Given the description of an element on the screen output the (x, y) to click on. 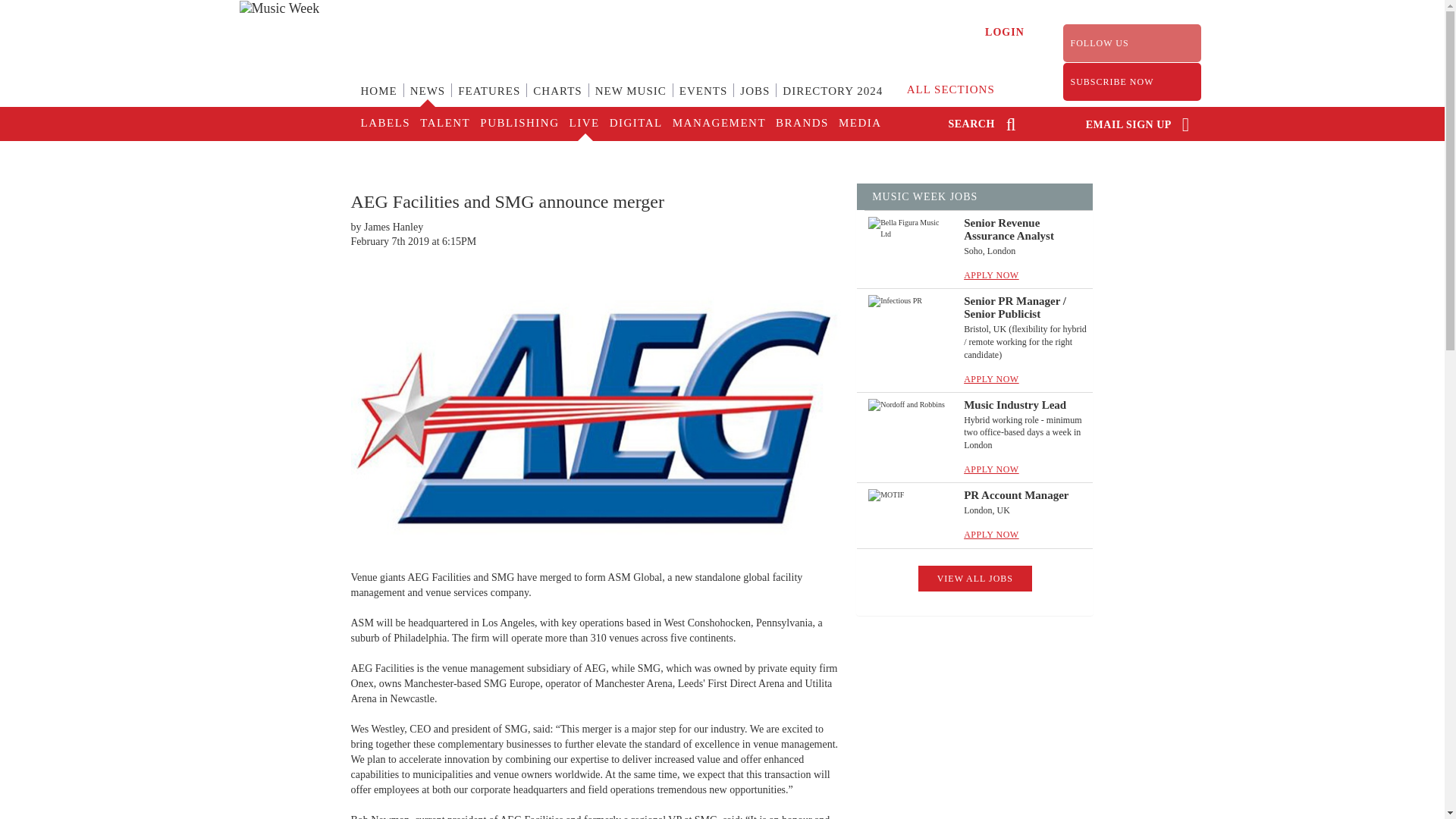
BRANDS (801, 123)
LIVE (582, 123)
HOME (379, 100)
EVENTS (702, 100)
LOGIN (1005, 31)
NEW MUSIC (630, 100)
LABELS (384, 123)
MEDIA (858, 123)
TALENT (443, 123)
MANAGEMENT (718, 123)
